Given the description of an element on the screen output the (x, y) to click on. 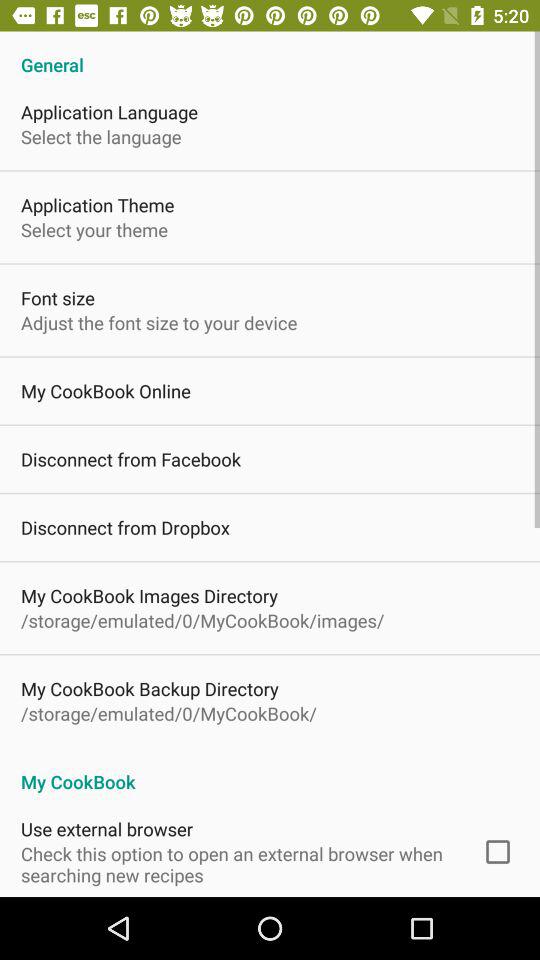
turn off the item next to check this option app (497, 852)
